Given the description of an element on the screen output the (x, y) to click on. 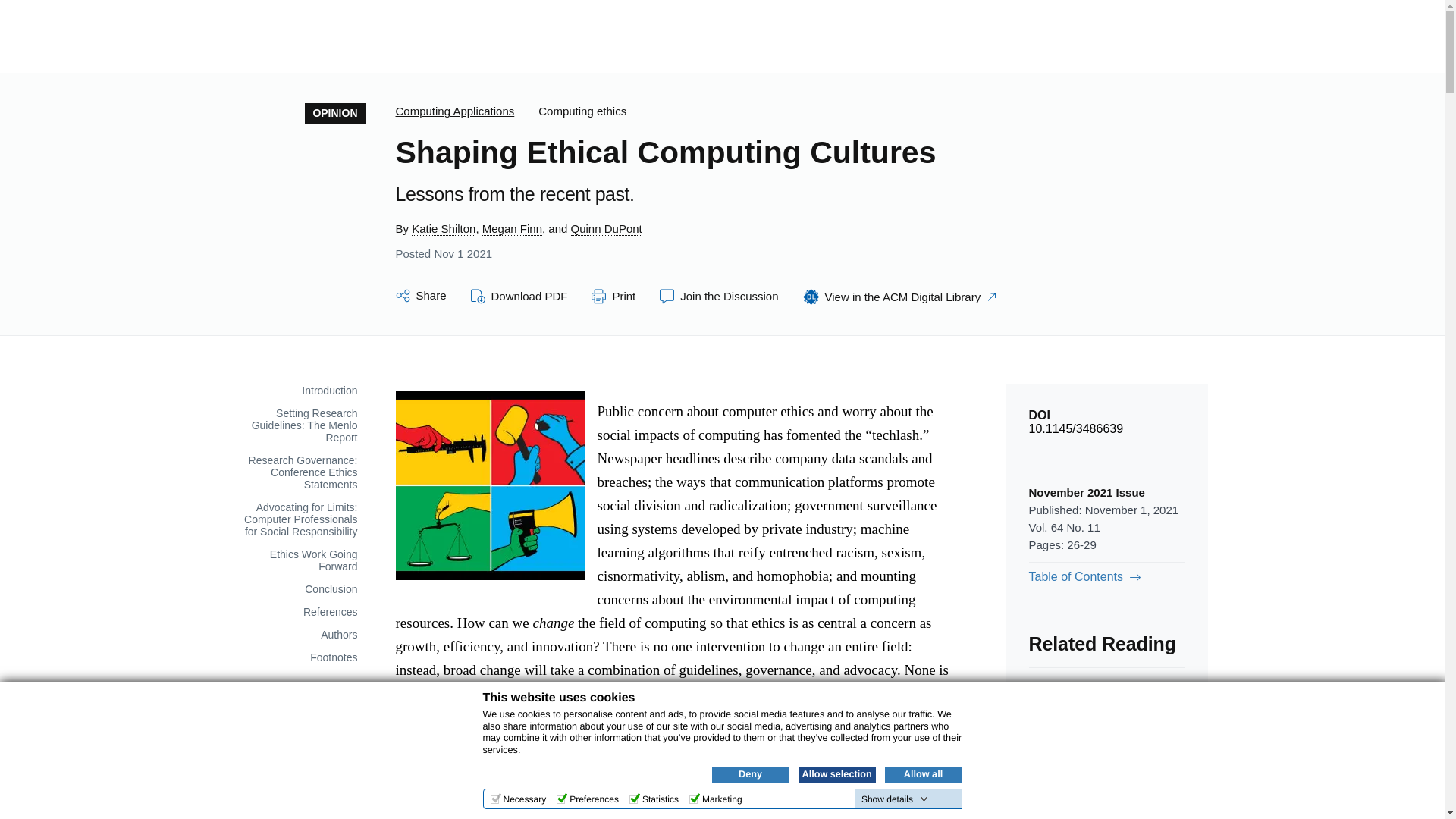
Allow selection (836, 774)
Allow all (921, 774)
Show details (895, 799)
Deny (750, 774)
